Given the description of an element on the screen output the (x, y) to click on. 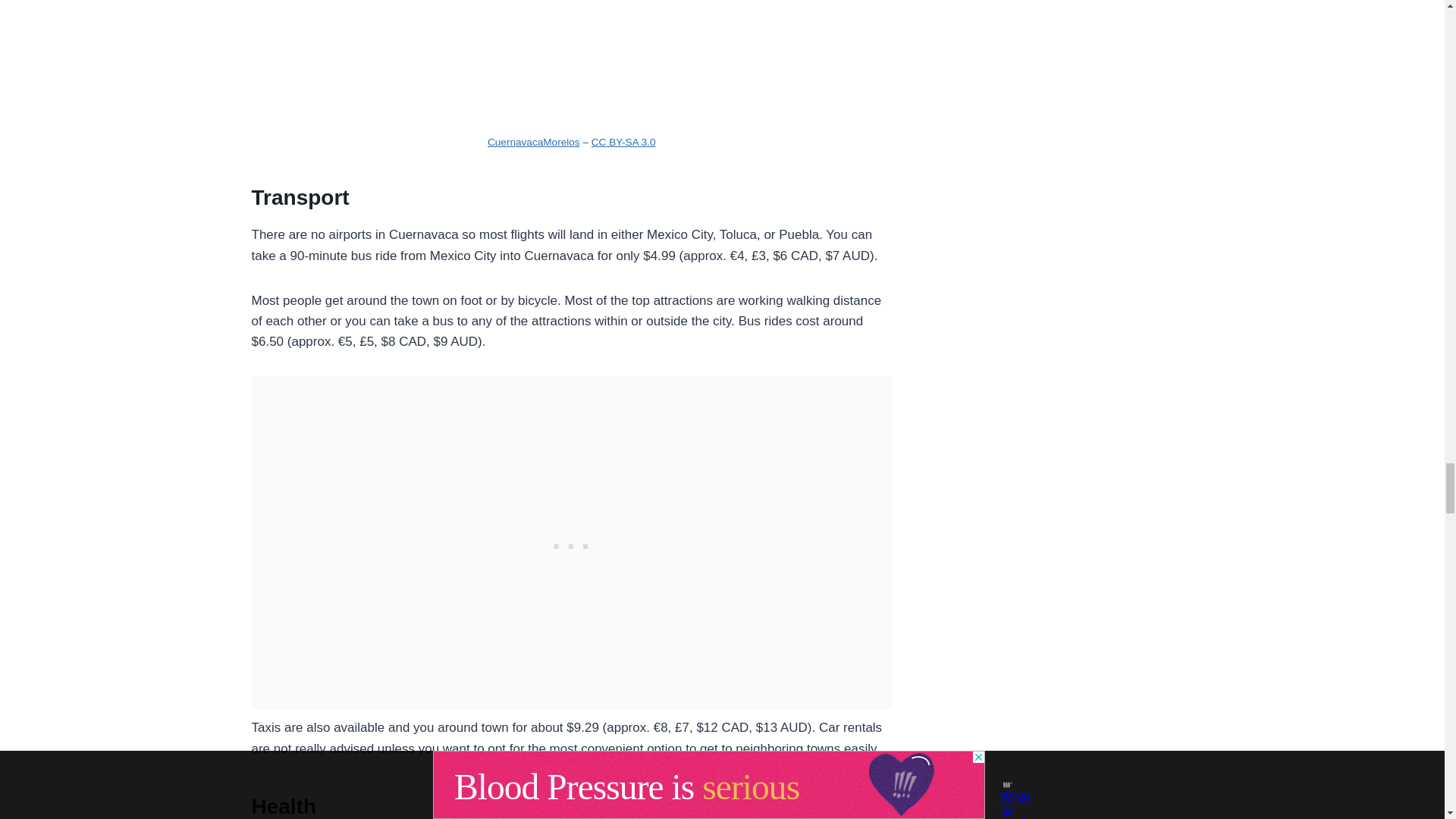
CuernavacaMorelos (533, 142)
CC BY-SA 3.0 (623, 142)
